Given the description of an element on the screen output the (x, y) to click on. 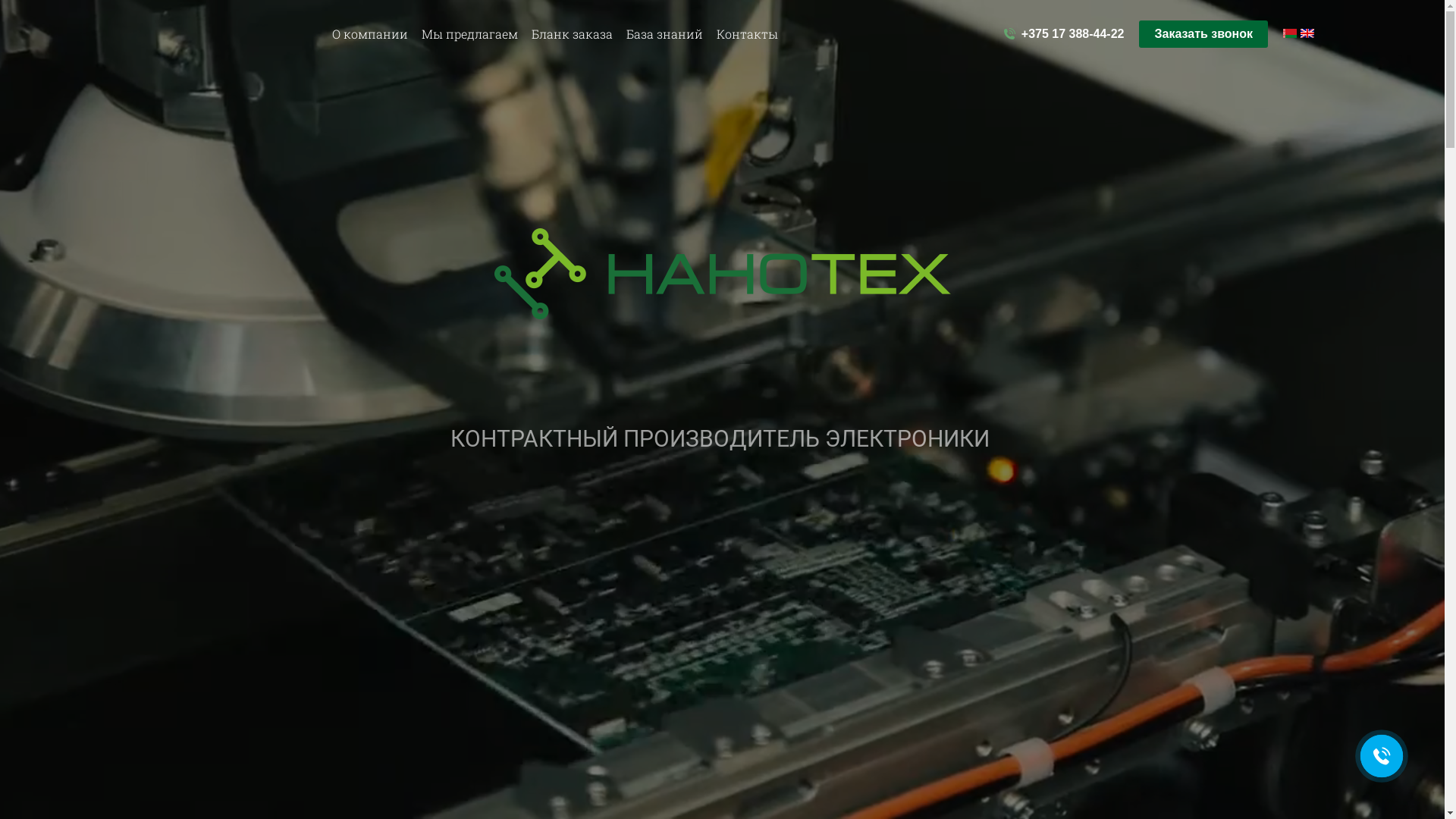
+375 17 388-44-22 Element type: text (1062, 33)
